Given the description of an element on the screen output the (x, y) to click on. 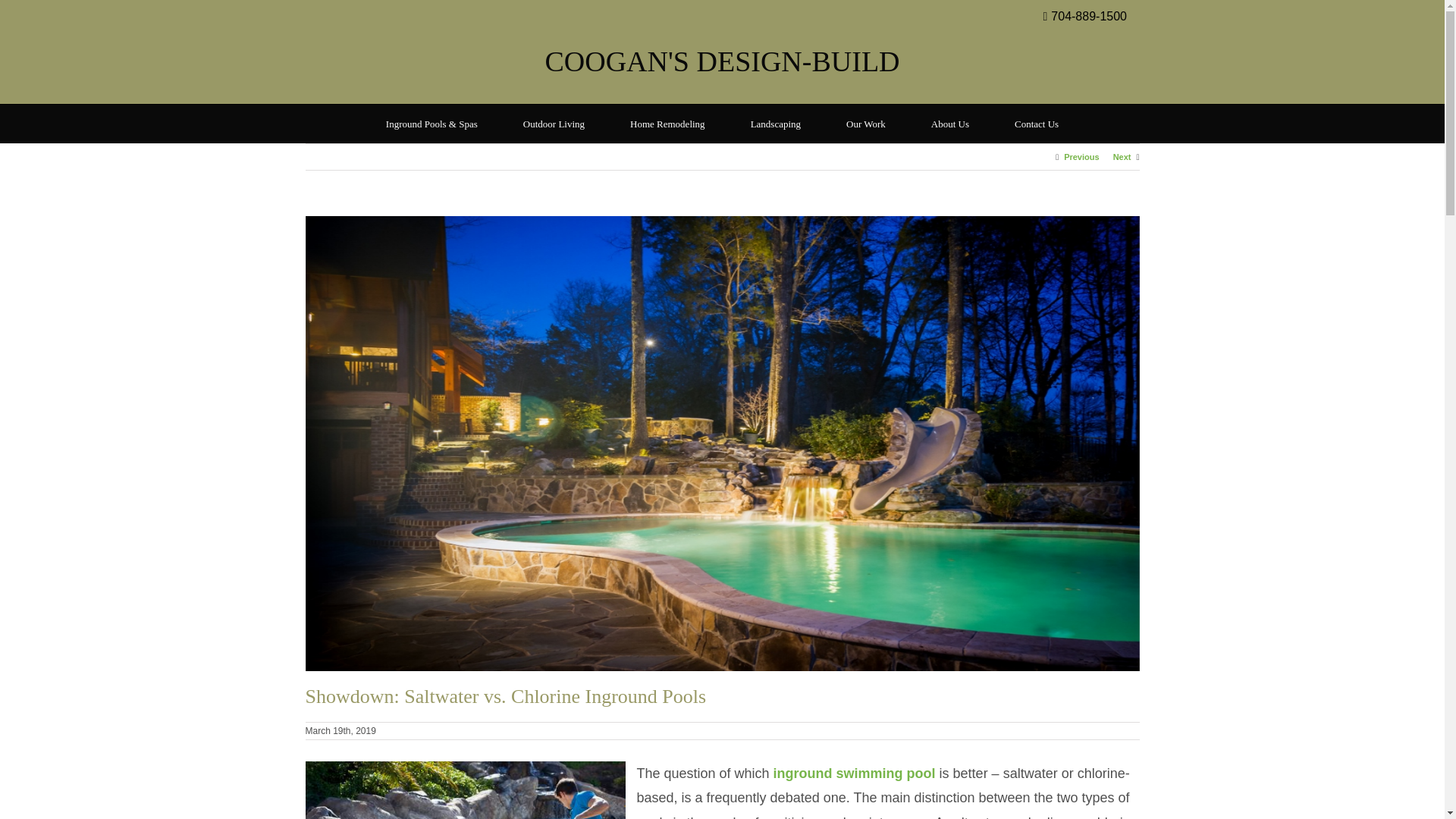
Landscaping (776, 123)
Contact Us (1036, 123)
About Us (949, 123)
Our Work (866, 123)
704-889-1500 (1096, 16)
inground swimming pool (854, 773)
Home Remodeling (667, 123)
Previous (1081, 156)
Outdoor Living (553, 123)
